Given the description of an element on the screen output the (x, y) to click on. 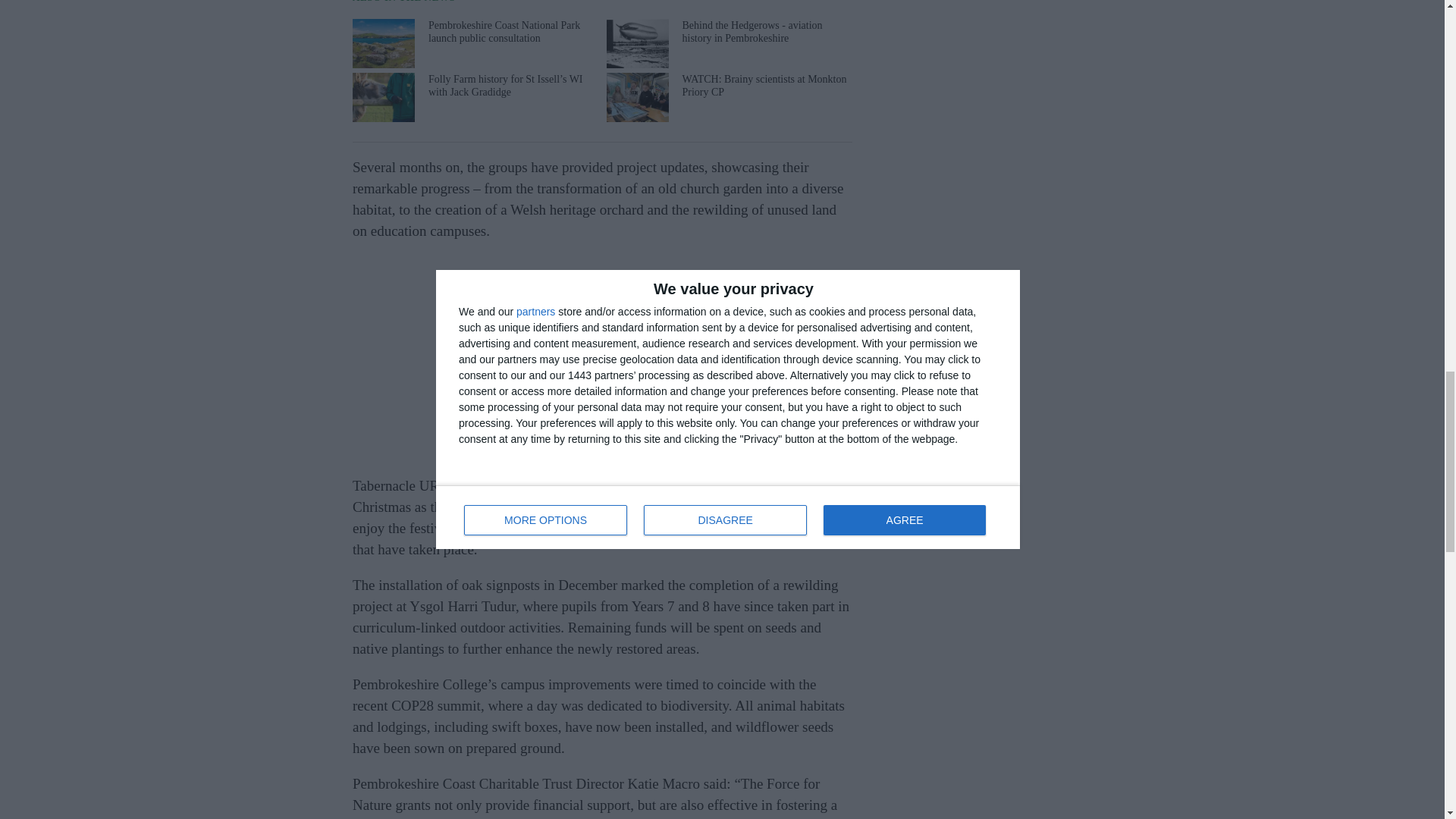
Pembrokeshire Coast National Park launch public consultation (473, 42)
Behind the Hedgerows - aviation history in Pembrokeshire (727, 42)
WATCH: Brainy scientists at Monkton Priory CP (727, 97)
